Given the description of an element on the screen output the (x, y) to click on. 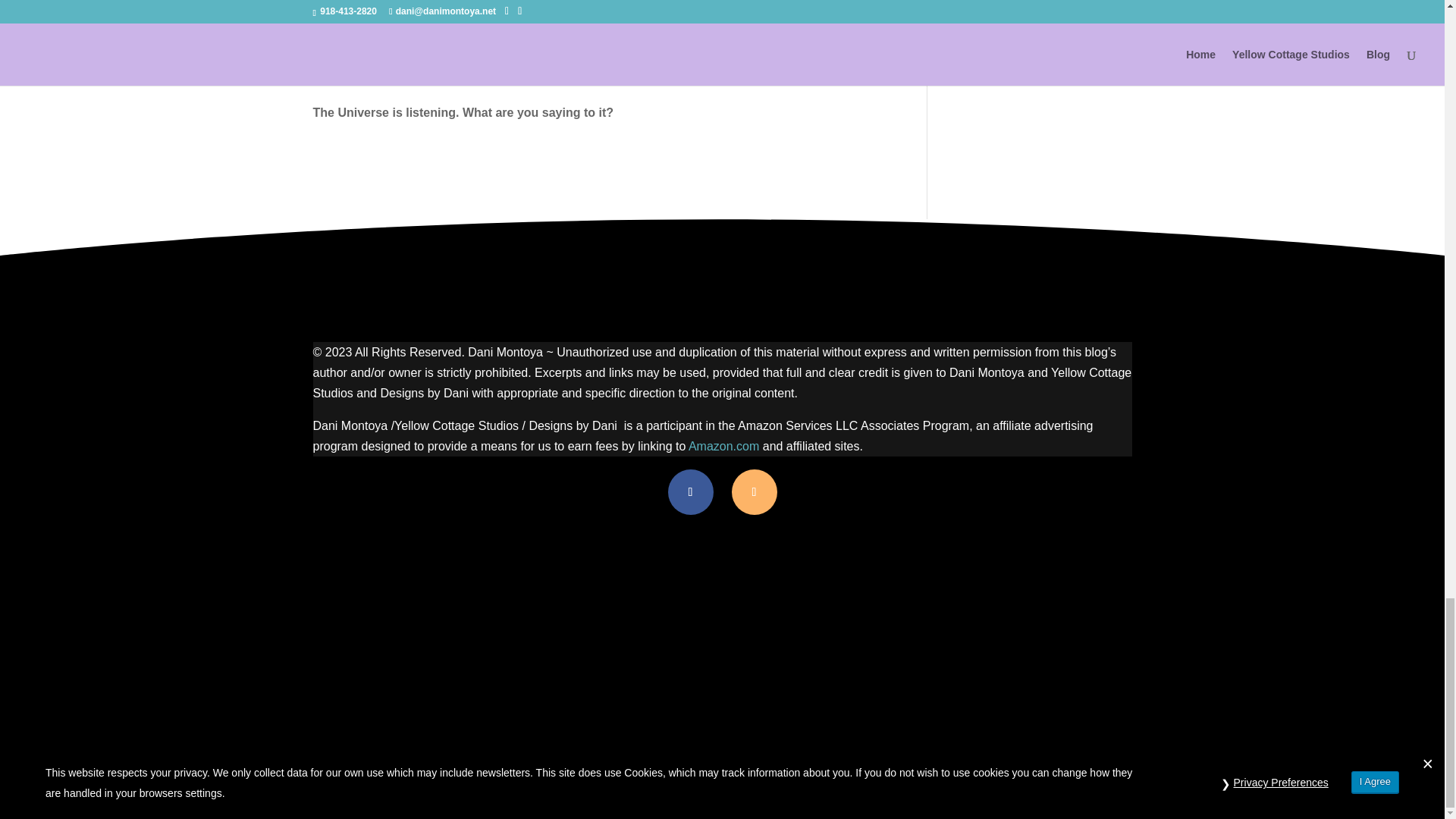
Follow on Instagram (753, 492)
Follow on Facebook (689, 492)
Amazon.com (723, 445)
